Given the description of an element on the screen output the (x, y) to click on. 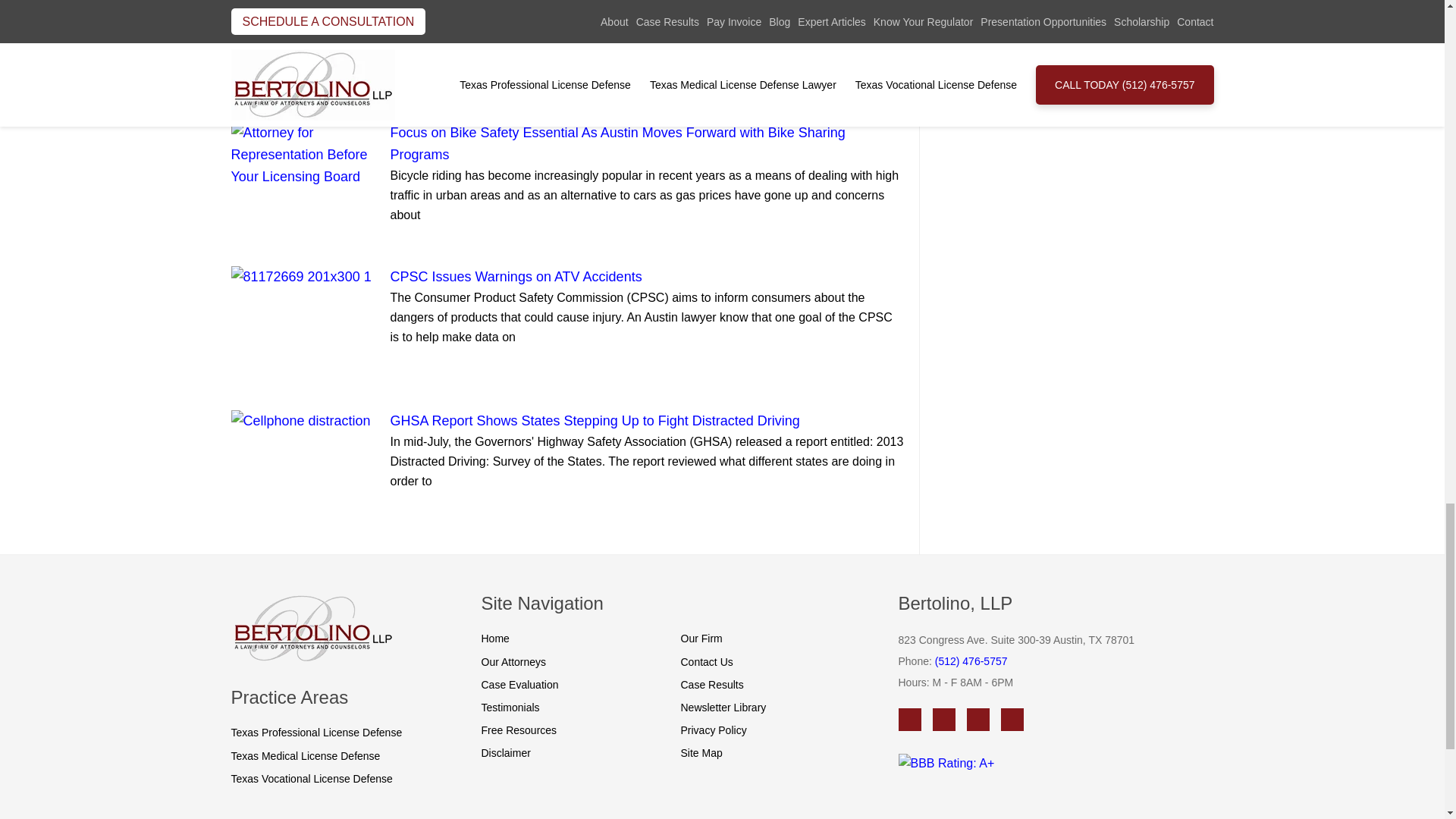
CPSC Issues Warnings on ATV Accidents (302, 323)
Attorney for Representation Before Your Licensing Board (302, 22)
TX DOT Campaign Puts Personal Face on DUI Accident Risks (302, 45)
Attorney for Representation Before Your Licensing Board (302, 155)
